Given the description of an element on the screen output the (x, y) to click on. 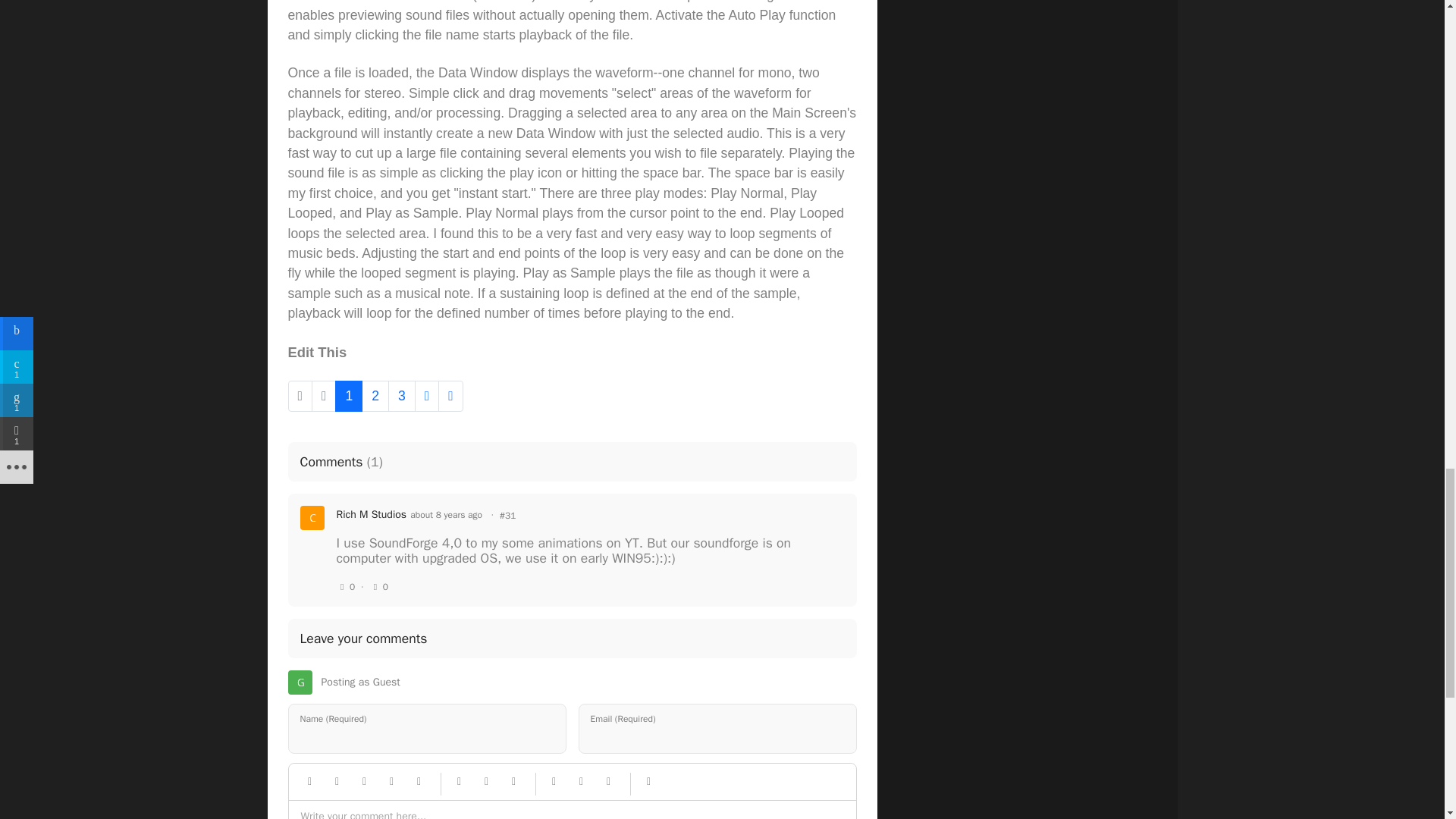
0 (345, 586)
Rich M Studios (371, 514)
Quote (390, 782)
2 (374, 395)
0 (378, 586)
3 (401, 395)
Picture (486, 782)
Link (458, 782)
Permalink (507, 515)
Italic (336, 782)
Bold (308, 782)
Emoji (418, 782)
Underline (363, 782)
Rich M Studios (371, 514)
1 (348, 395)
